Given the description of an element on the screen output the (x, y) to click on. 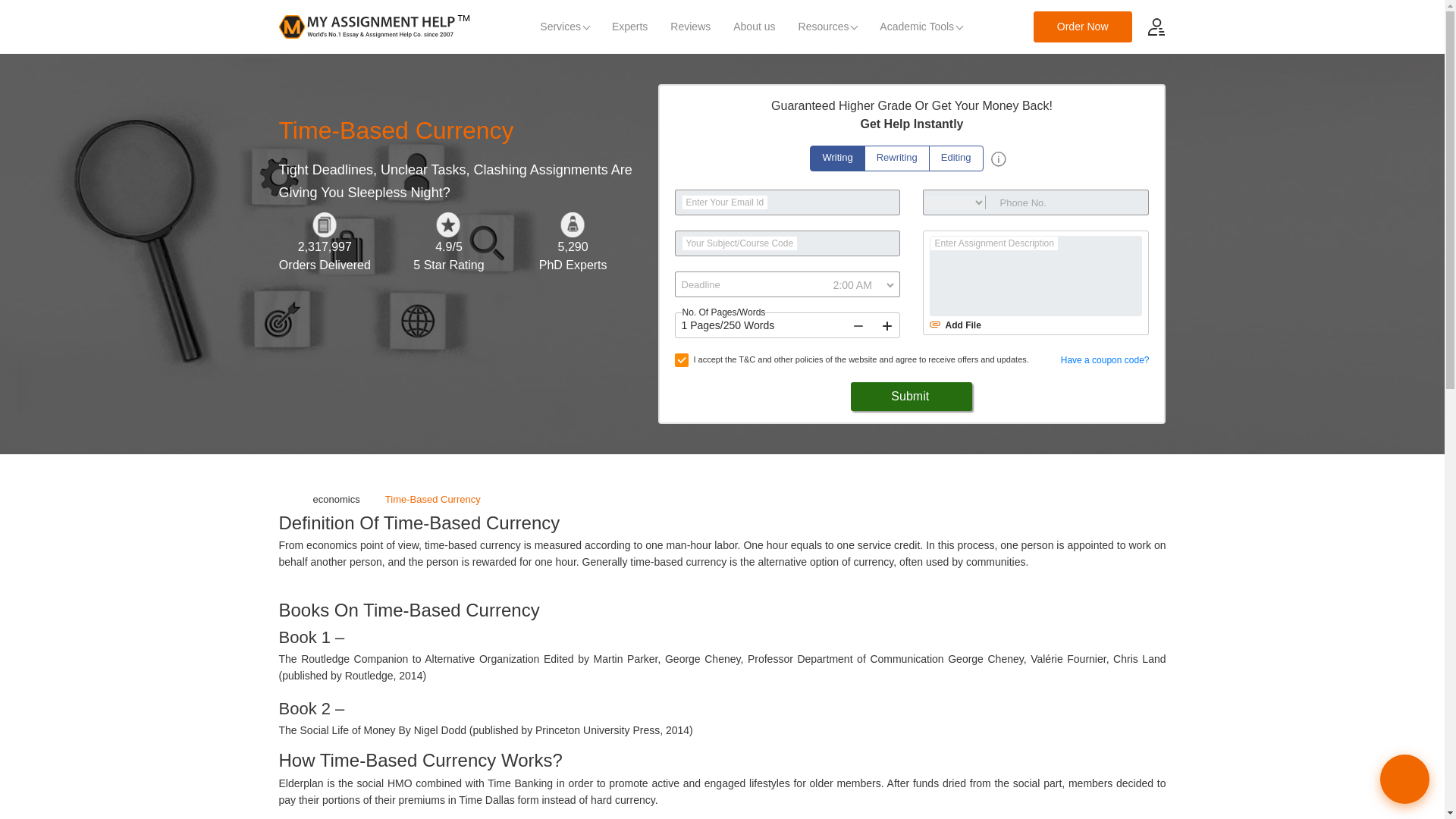
menu (1156, 26)
Resources (828, 26)
Services (563, 26)
Info (998, 159)
Reviews (690, 26)
About us (754, 26)
Experts (629, 26)
